Given the description of an element on the screen output the (x, y) to click on. 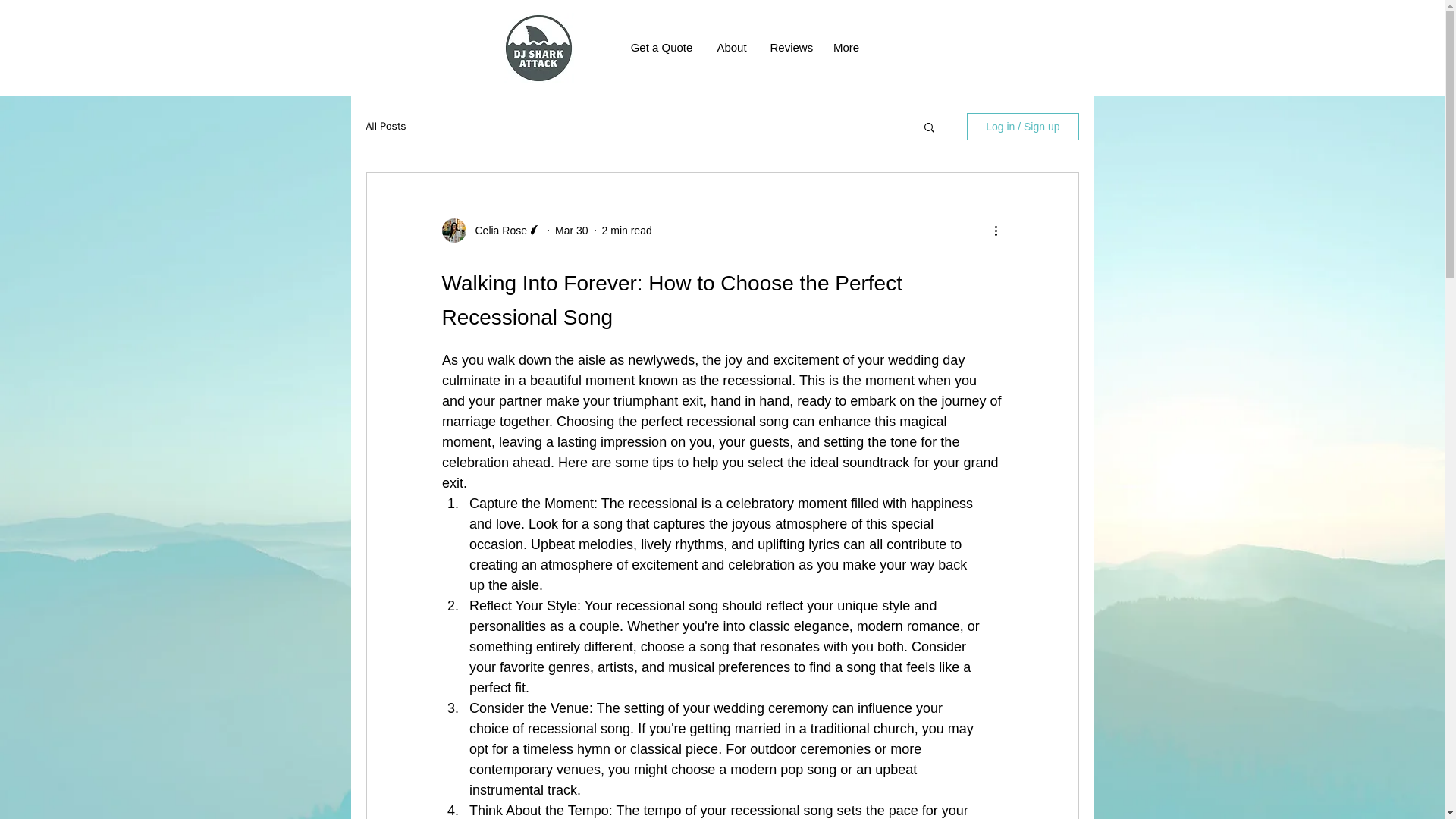
Mar 30 (571, 230)
Celia Rose (495, 230)
2 min read (627, 230)
About (731, 47)
Get a Quote (661, 47)
All Posts (385, 126)
Reviews (789, 47)
